Given the description of an element on the screen output the (x, y) to click on. 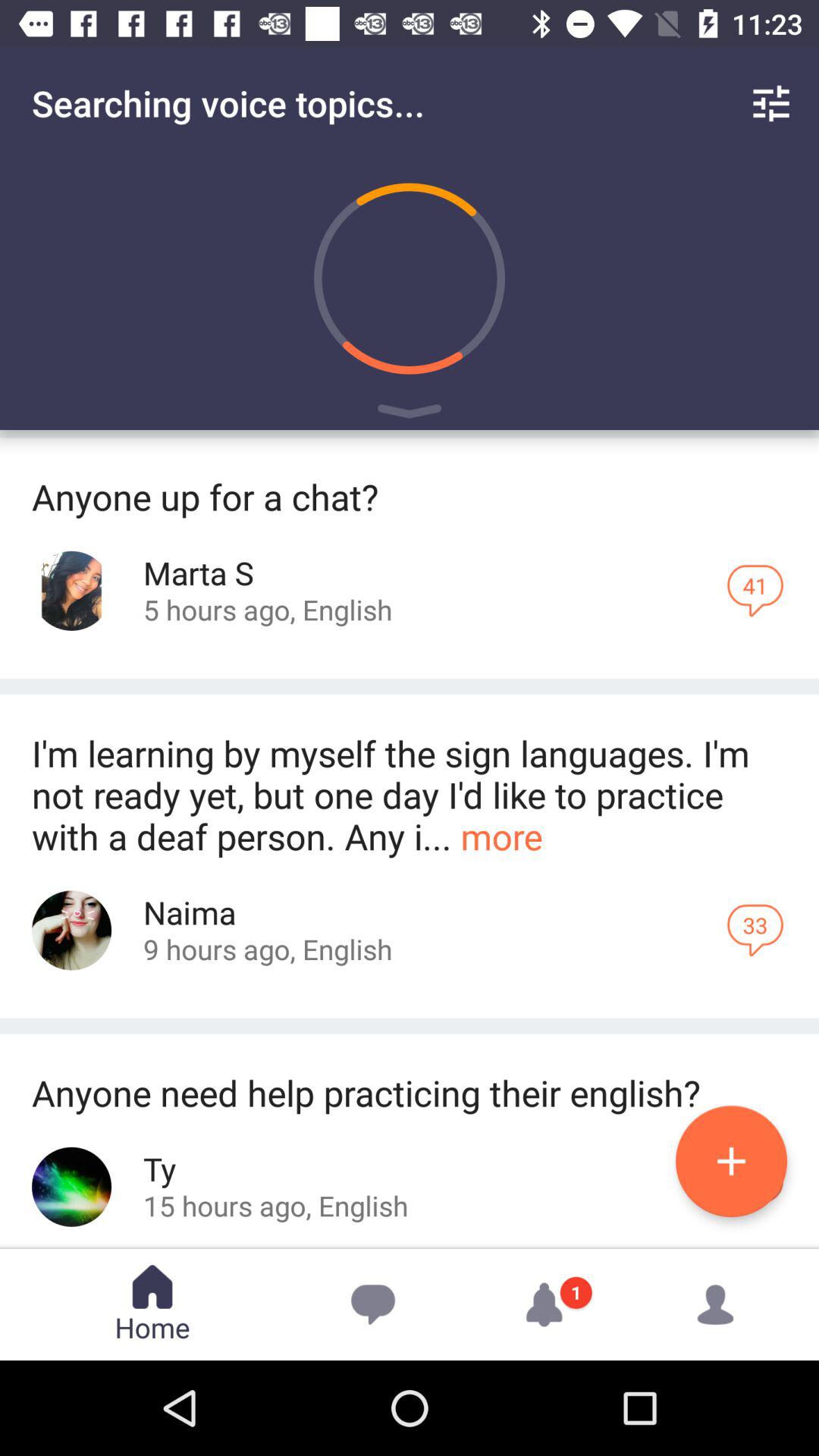
increment button (731, 1161)
